Given the description of an element on the screen output the (x, y) to click on. 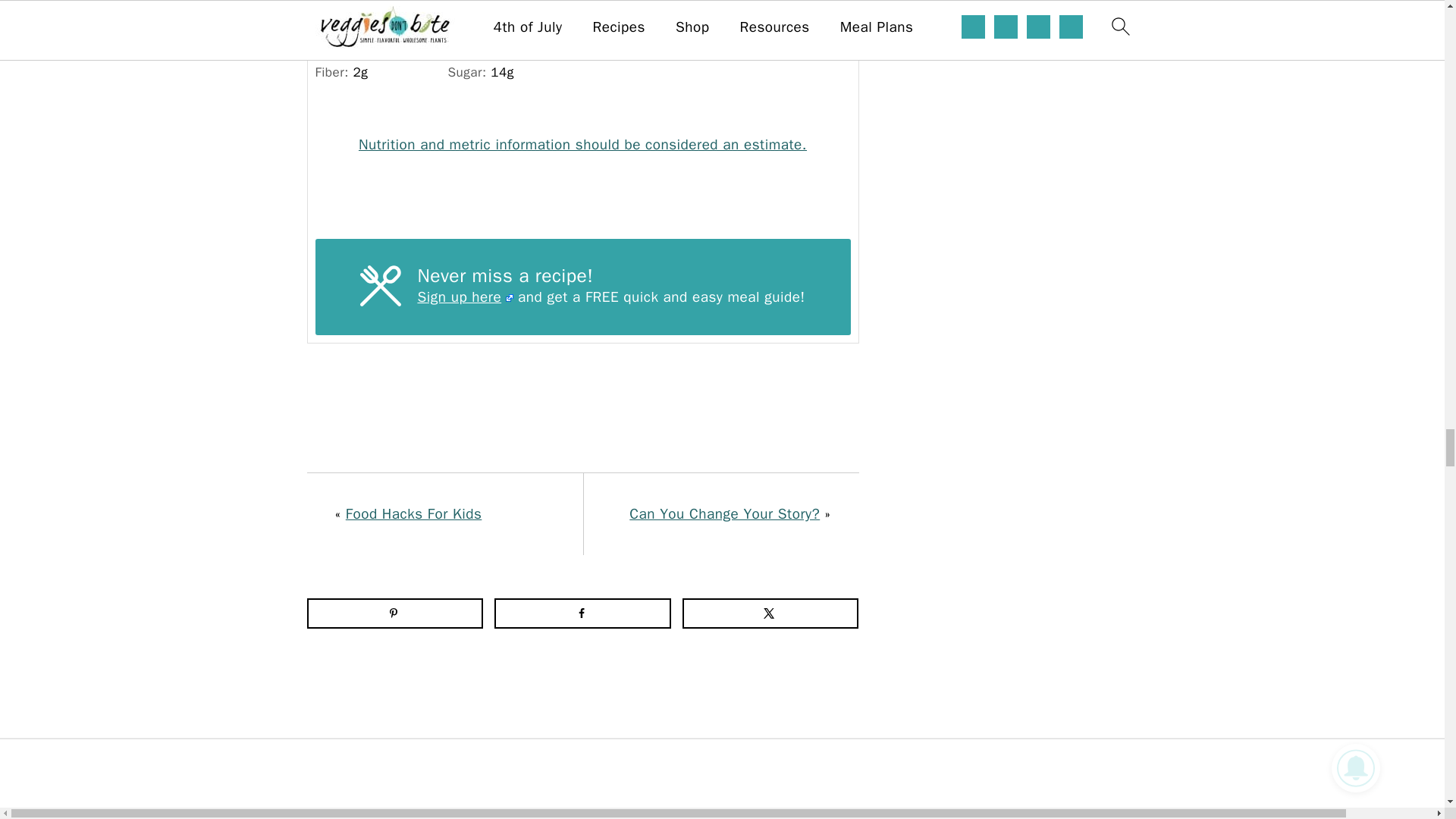
Share on X (770, 613)
Save to Pinterest (394, 613)
Share on Facebook (583, 613)
